Given the description of an element on the screen output the (x, y) to click on. 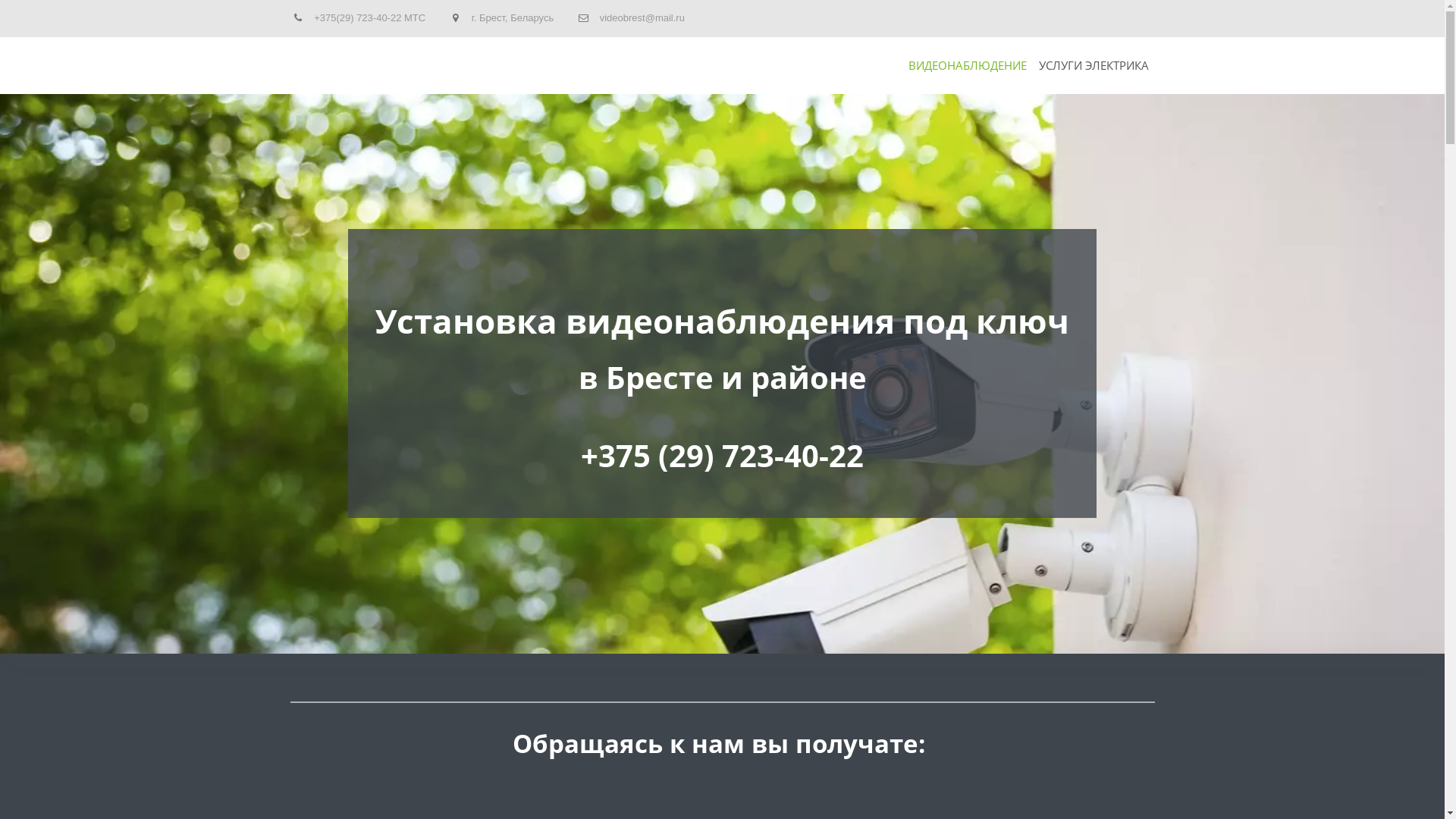
videobrest@mail.ru Element type: text (641, 17)
